Given the description of an element on the screen output the (x, y) to click on. 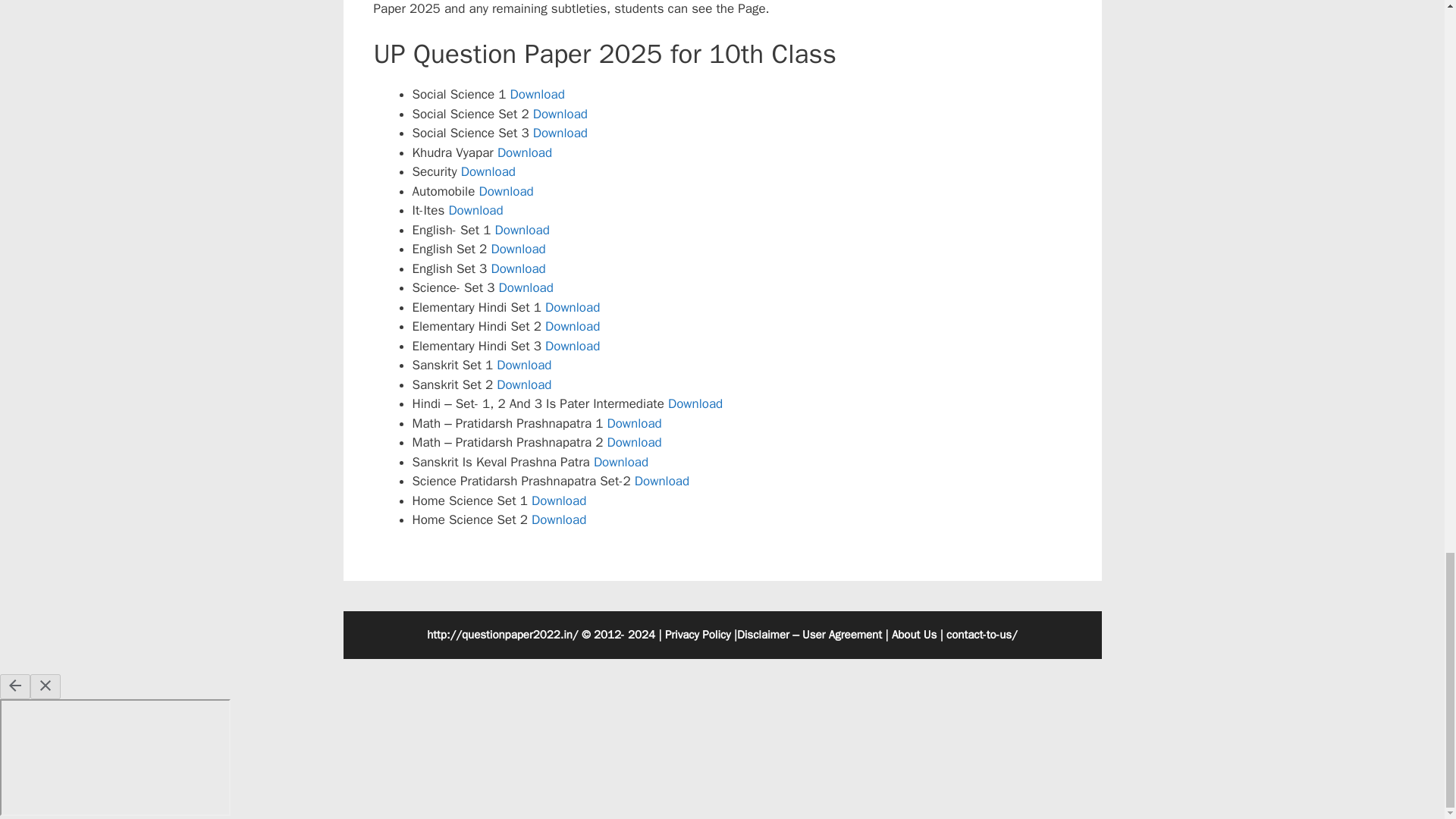
Download (537, 94)
Download (523, 365)
Download (524, 152)
Download (620, 462)
Download (488, 171)
Download (571, 307)
Download (560, 114)
Download (522, 229)
Download (517, 268)
Download (526, 287)
Download (571, 345)
Download (558, 500)
Download (571, 326)
Download (661, 480)
Privacy Policy (697, 634)
